Given the description of an element on the screen output the (x, y) to click on. 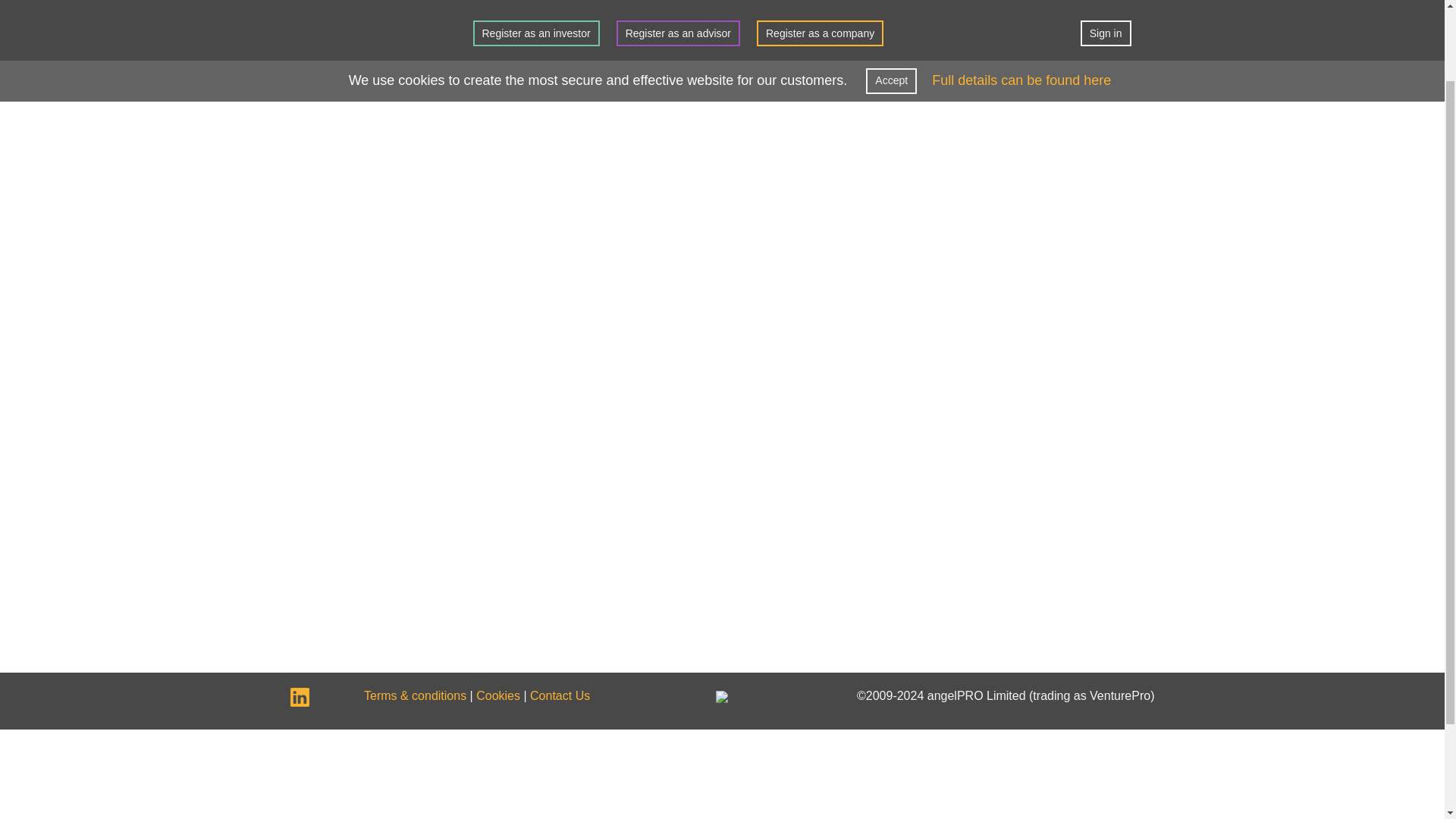
Contact Us (559, 695)
Cookies (497, 695)
Accept (891, 2)
